Given the description of an element on the screen output the (x, y) to click on. 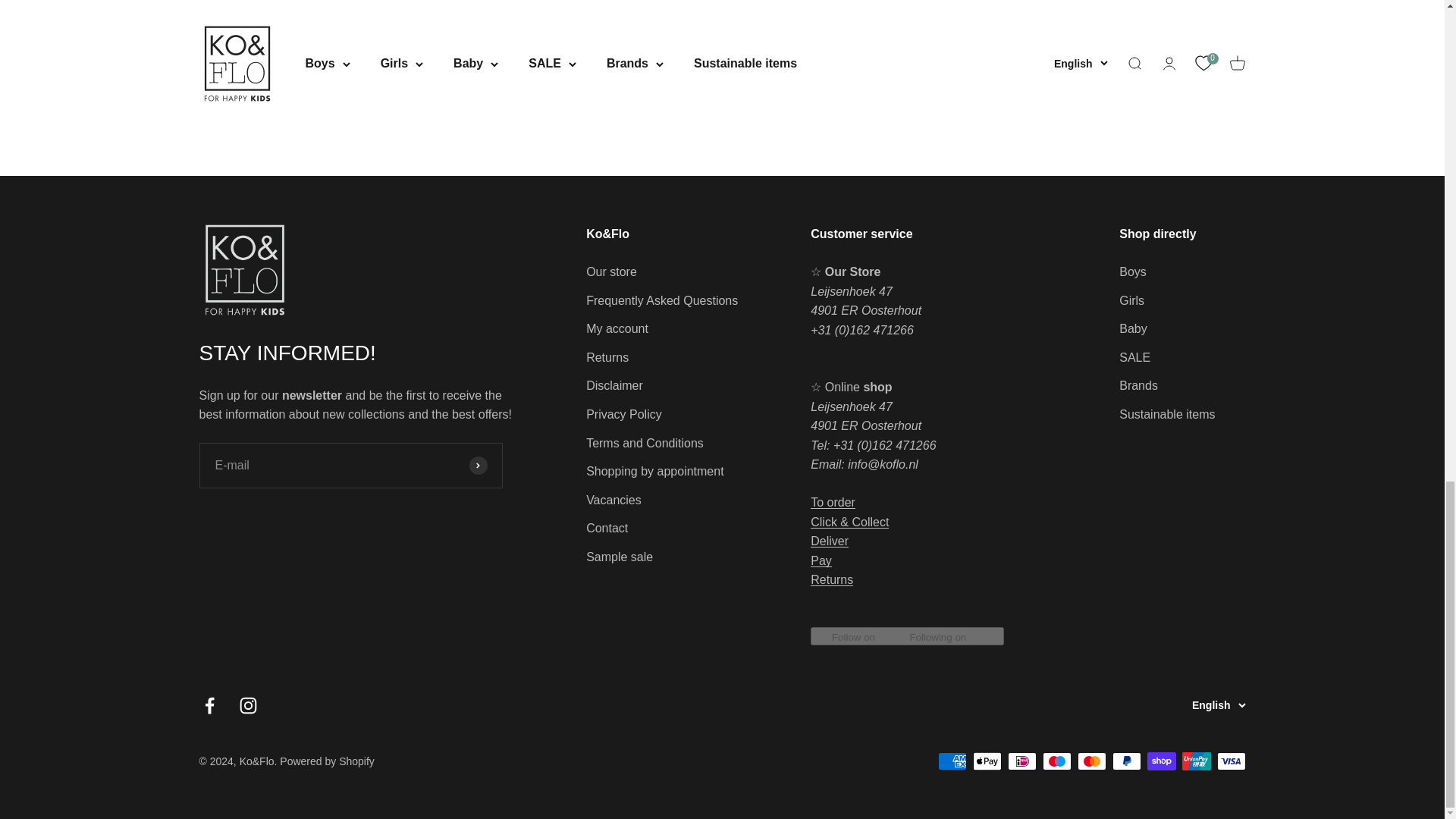
FAQ (820, 560)
FAQ (849, 521)
FAQ (833, 502)
FAQ (829, 540)
